Given the description of an element on the screen output the (x, y) to click on. 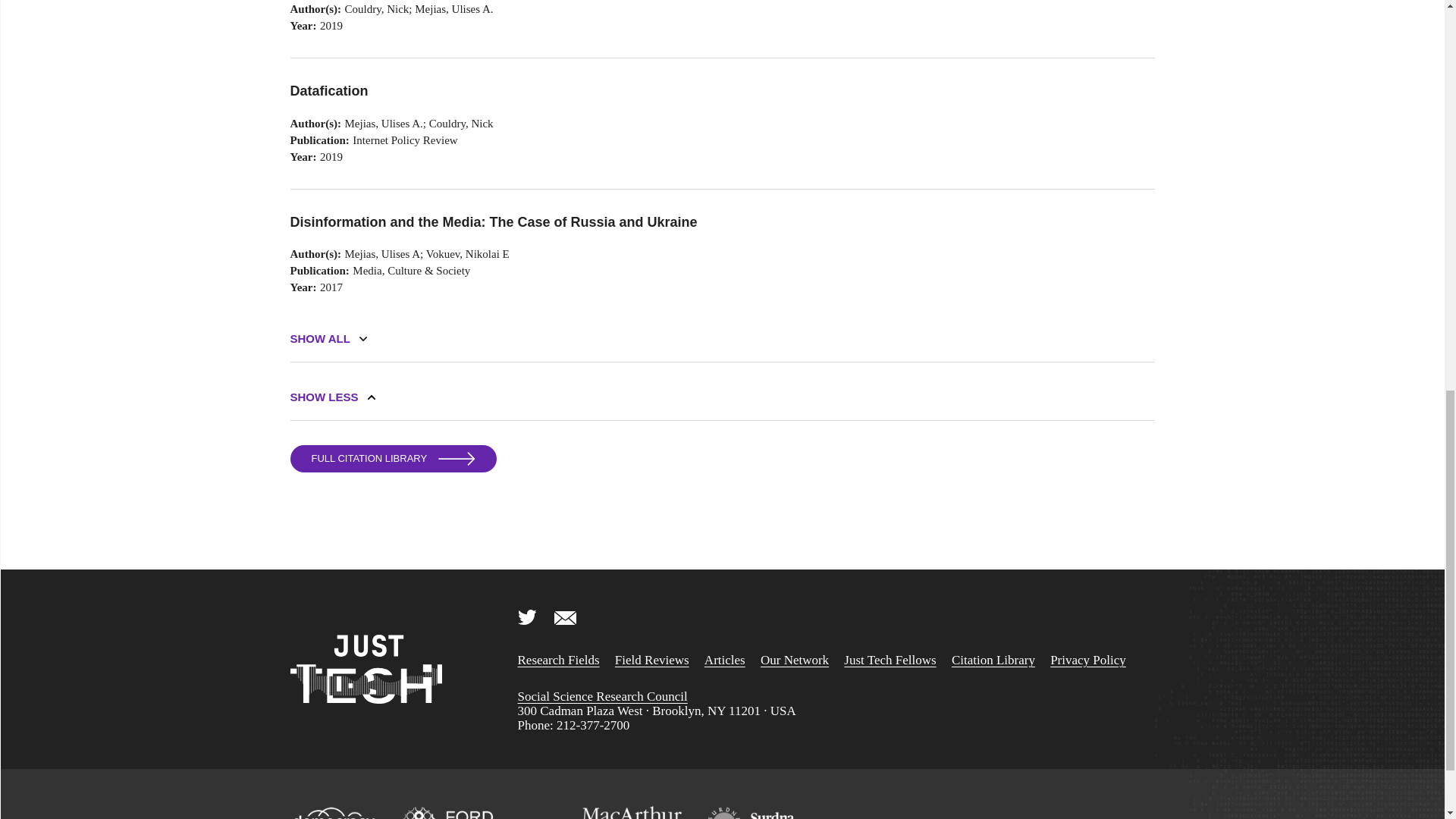
Research Fields (557, 659)
SHOW ALL (319, 338)
Field Reviews (651, 659)
Citation Library (993, 659)
SHOW LESS (323, 396)
Disinformation and the Media: The Case of Russia and Ukraine (592, 221)
Just Tech Fellows (890, 659)
FULL CITATION LIBRARY (392, 458)
Datafication (592, 90)
Privacy Policy (1087, 659)
Articles (724, 659)
Our Network (794, 659)
